Given the description of an element on the screen output the (x, y) to click on. 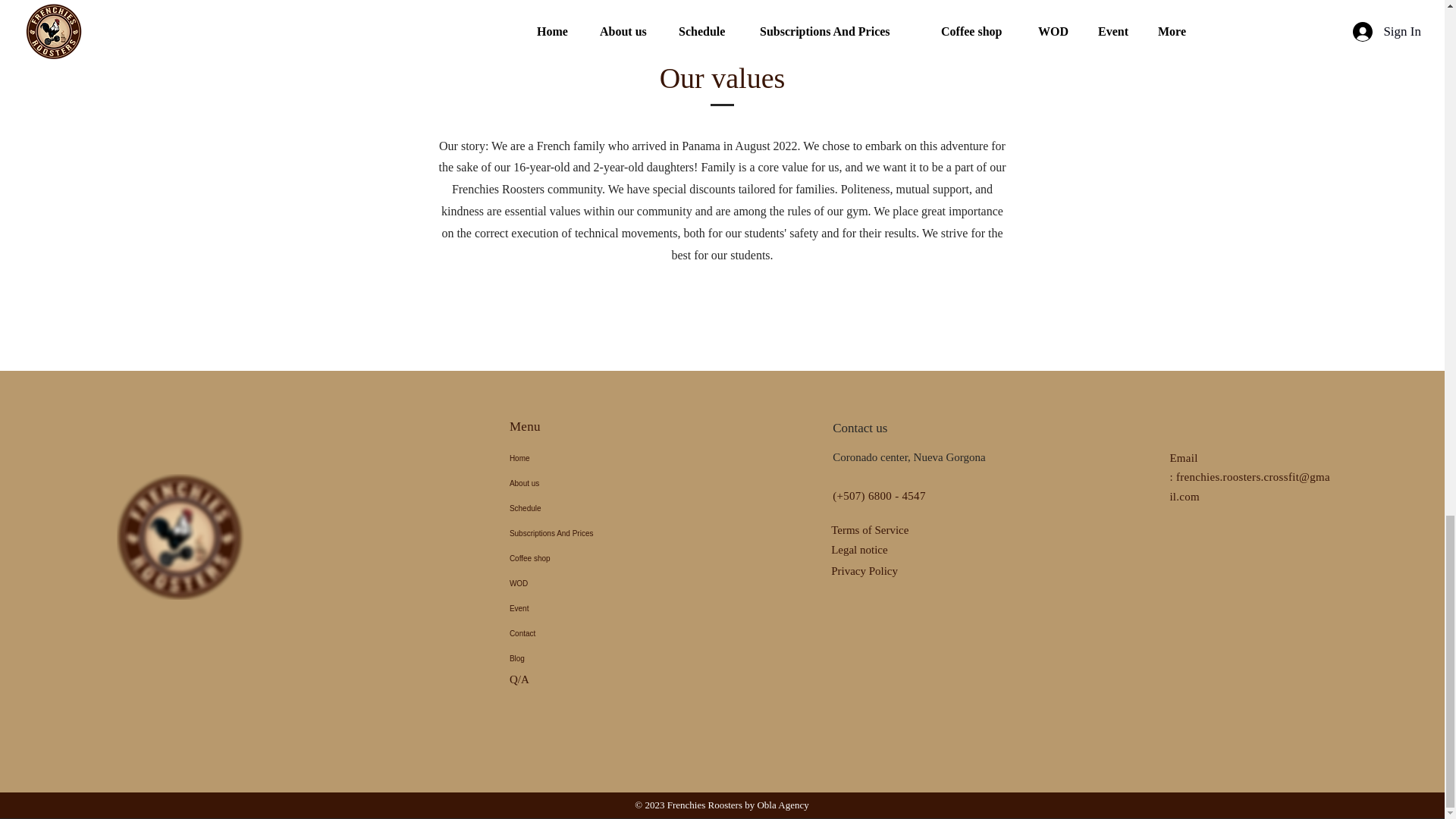
Home (579, 457)
Contact (579, 633)
Event (579, 608)
Blog (579, 658)
About us (579, 483)
Coffee shop (579, 558)
WOD (579, 583)
Schedule (579, 508)
Subscriptions And Prices (579, 533)
